Given the description of an element on the screen output the (x, y) to click on. 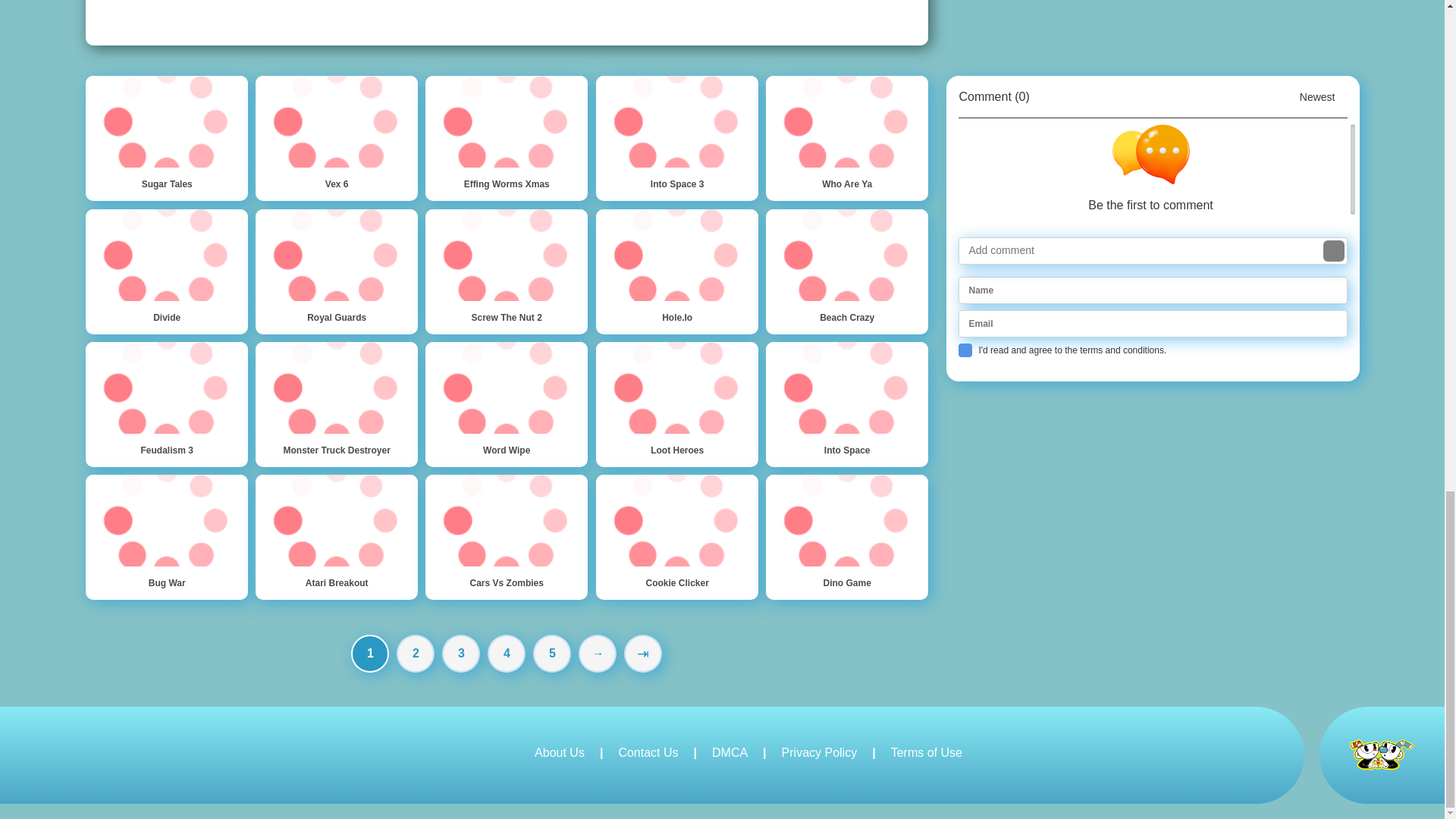
Monster Truck Destroyer (336, 404)
Be the first to comment (1156, 169)
Divide (165, 271)
Royal Guards (336, 271)
Sugar Tales (165, 138)
Who Are Ya (846, 138)
Effing Worms Xmas (506, 138)
Beach Crazy (846, 271)
Hole.Io (676, 271)
Feudalism 3 (165, 404)
